Given the description of an element on the screen output the (x, y) to click on. 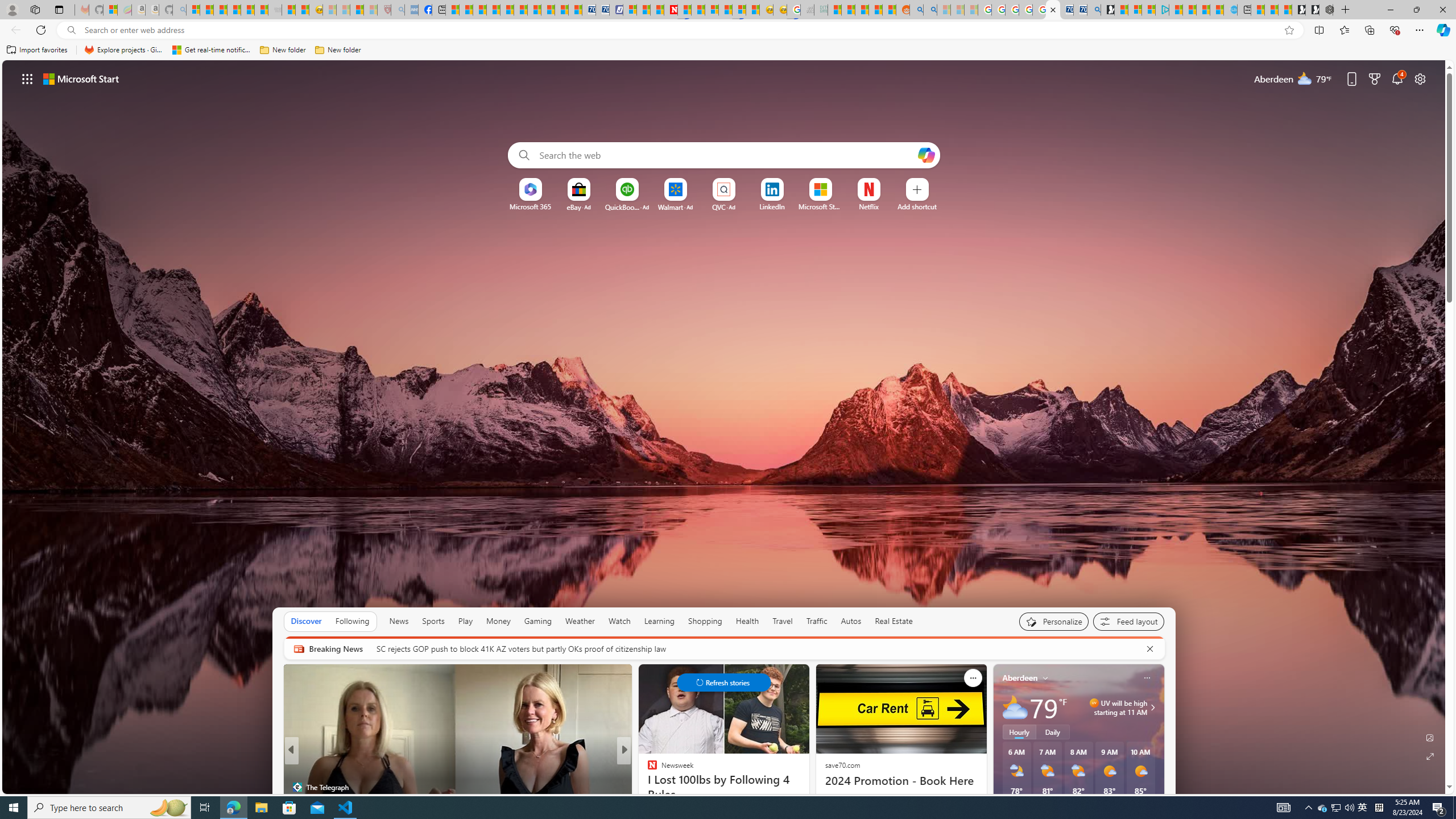
Autos (851, 621)
Health (746, 621)
Expand background (1430, 756)
Science - MSN (356, 9)
Traffic (816, 621)
Cheap Hotels - Save70.com (602, 9)
Health (746, 621)
Learning (658, 621)
Money (498, 621)
